Given the description of an element on the screen output the (x, y) to click on. 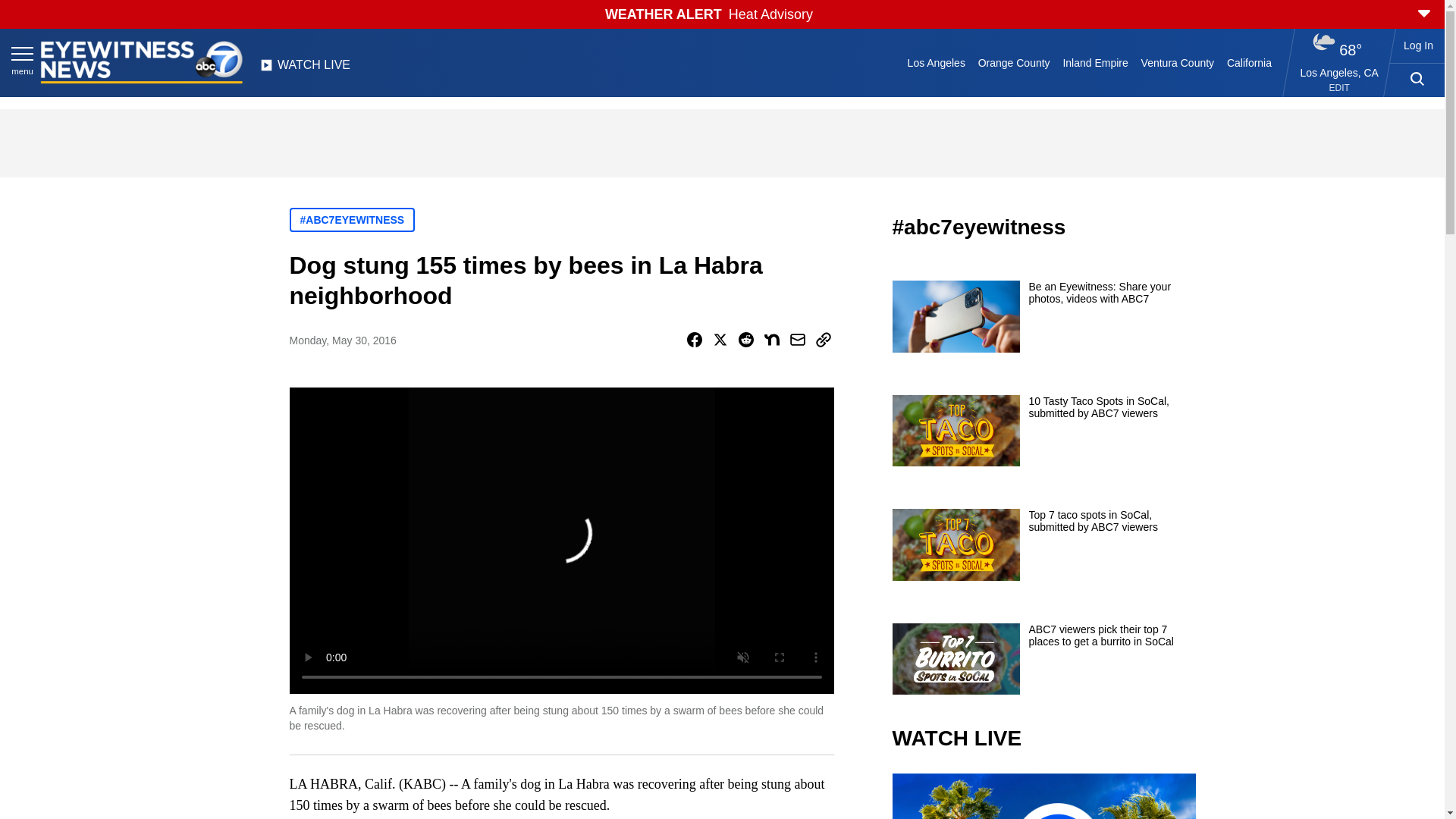
Inland Empire (1095, 62)
Orange County (1014, 62)
California (1249, 62)
Los Angeles, CA (1339, 72)
Los Angeles (936, 62)
WATCH LIVE (305, 69)
EDIT (1339, 87)
Ventura County (1177, 62)
